Given the description of an element on the screen output the (x, y) to click on. 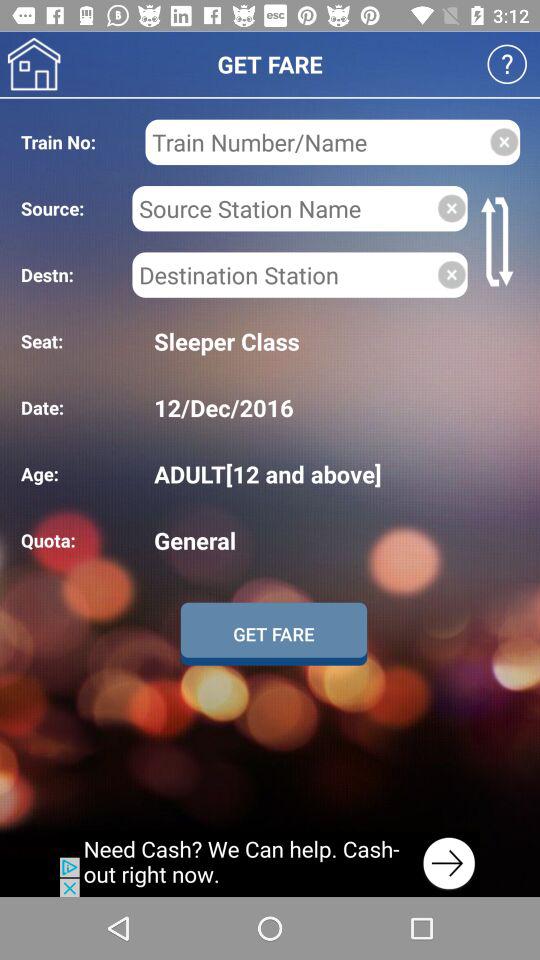
help search (506, 64)
